Given the description of an element on the screen output the (x, y) to click on. 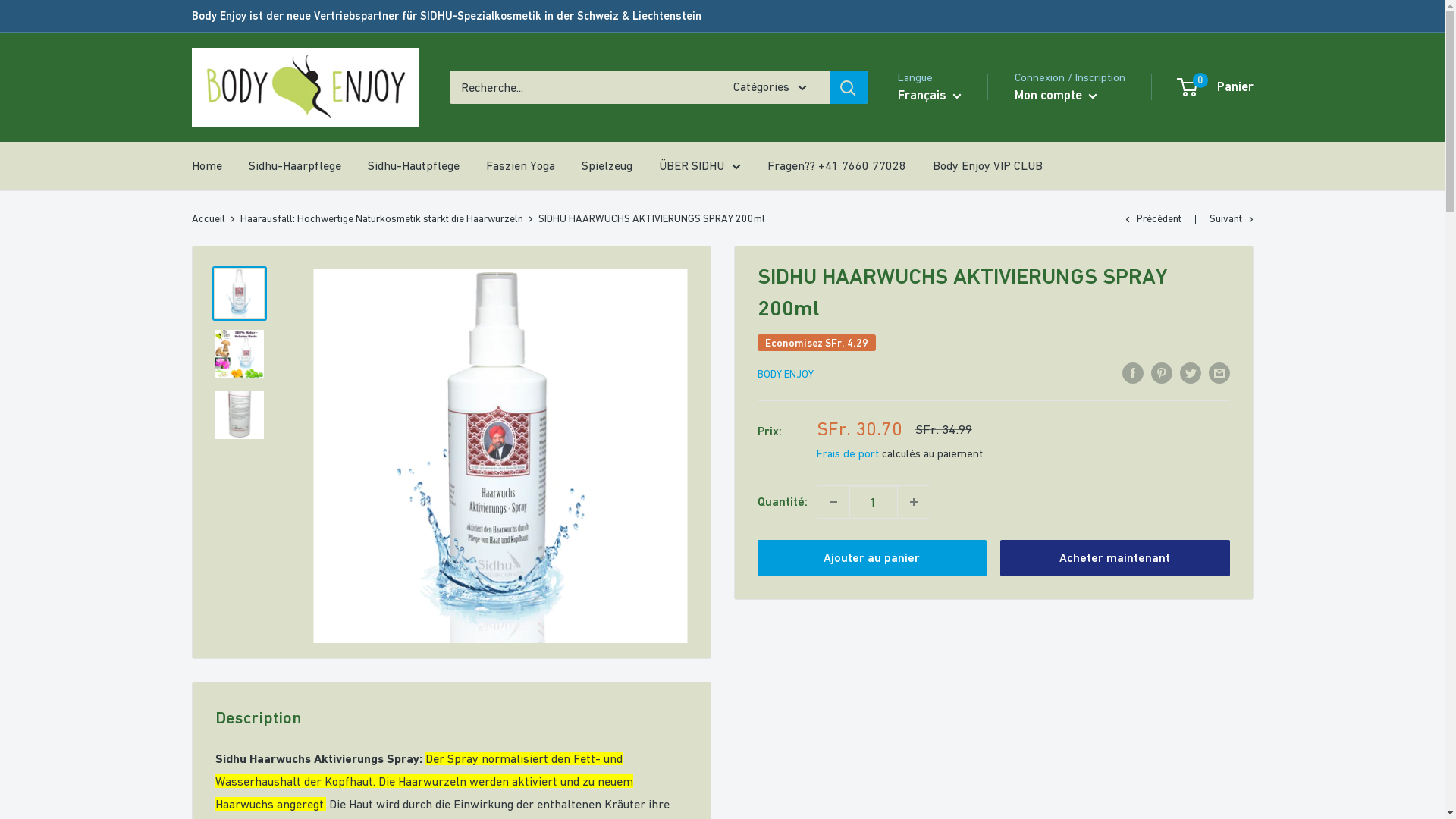
Ajouter au panier Element type: text (871, 557)
Mon compte Element type: text (1055, 95)
it Element type: text (943, 184)
Faszien Yoga Element type: text (519, 165)
Body Enjoy VIP CLUB Element type: text (987, 165)
Accueil Element type: text (207, 218)
Home Element type: text (206, 165)
Body Enjoy Element type: text (304, 86)
BODY ENJOY Element type: text (784, 373)
Fragen?? +41 7660 77028 Element type: text (836, 165)
0
Panier Element type: text (1215, 87)
Suivant Element type: text (1230, 218)
fr Element type: text (943, 161)
Sidhu-Haarpflege Element type: text (294, 165)
Sidhu-Hautpflege Element type: text (412, 165)
de Element type: text (943, 137)
Frais de port Element type: text (846, 452)
Acheter maintenant Element type: text (1115, 557)
Spielzeug Element type: text (605, 165)
